Given the description of an element on the screen output the (x, y) to click on. 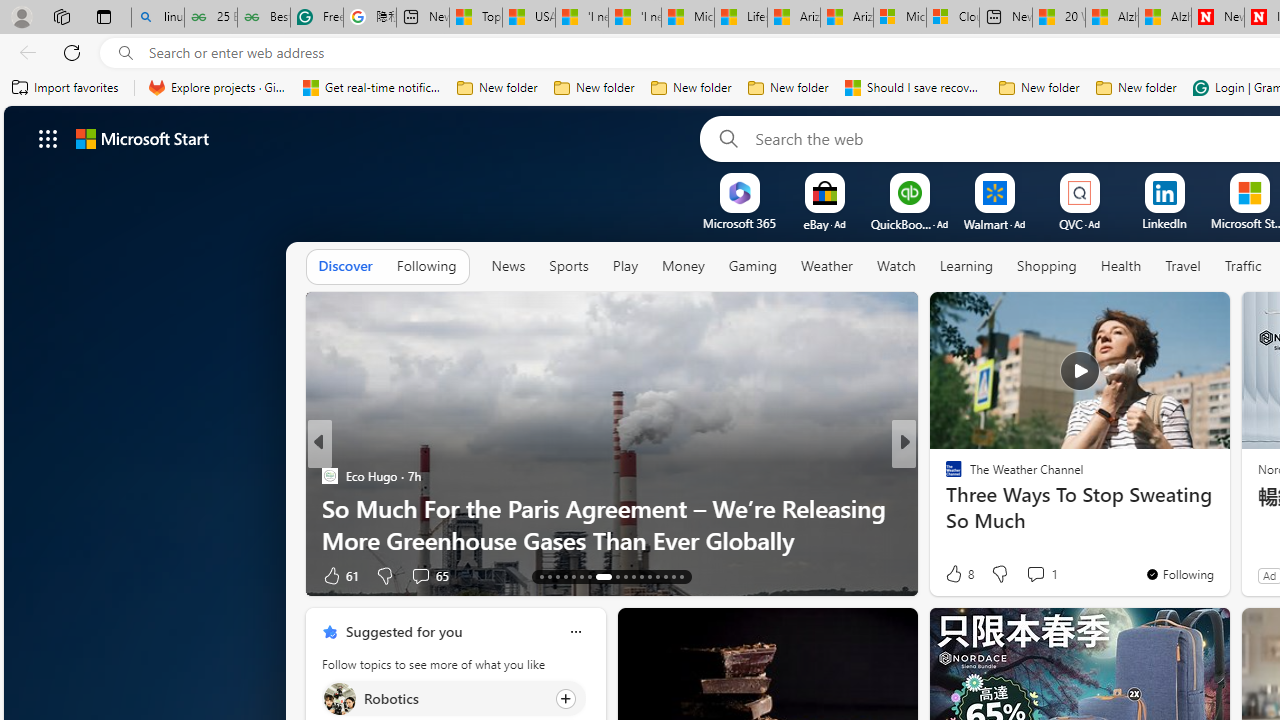
AutomationID: tab-17 (573, 576)
AutomationID: tab-27 (664, 576)
AutomationID: tab-22 (624, 576)
View comments 7 Comment (1036, 575)
View comments 36 Comment (1042, 575)
AutomationID: tab-25 (649, 576)
Search icon (125, 53)
AutomationID: tab-18 (581, 576)
AutomationID: tab-21 (617, 576)
